Given the description of an element on the screen output the (x, y) to click on. 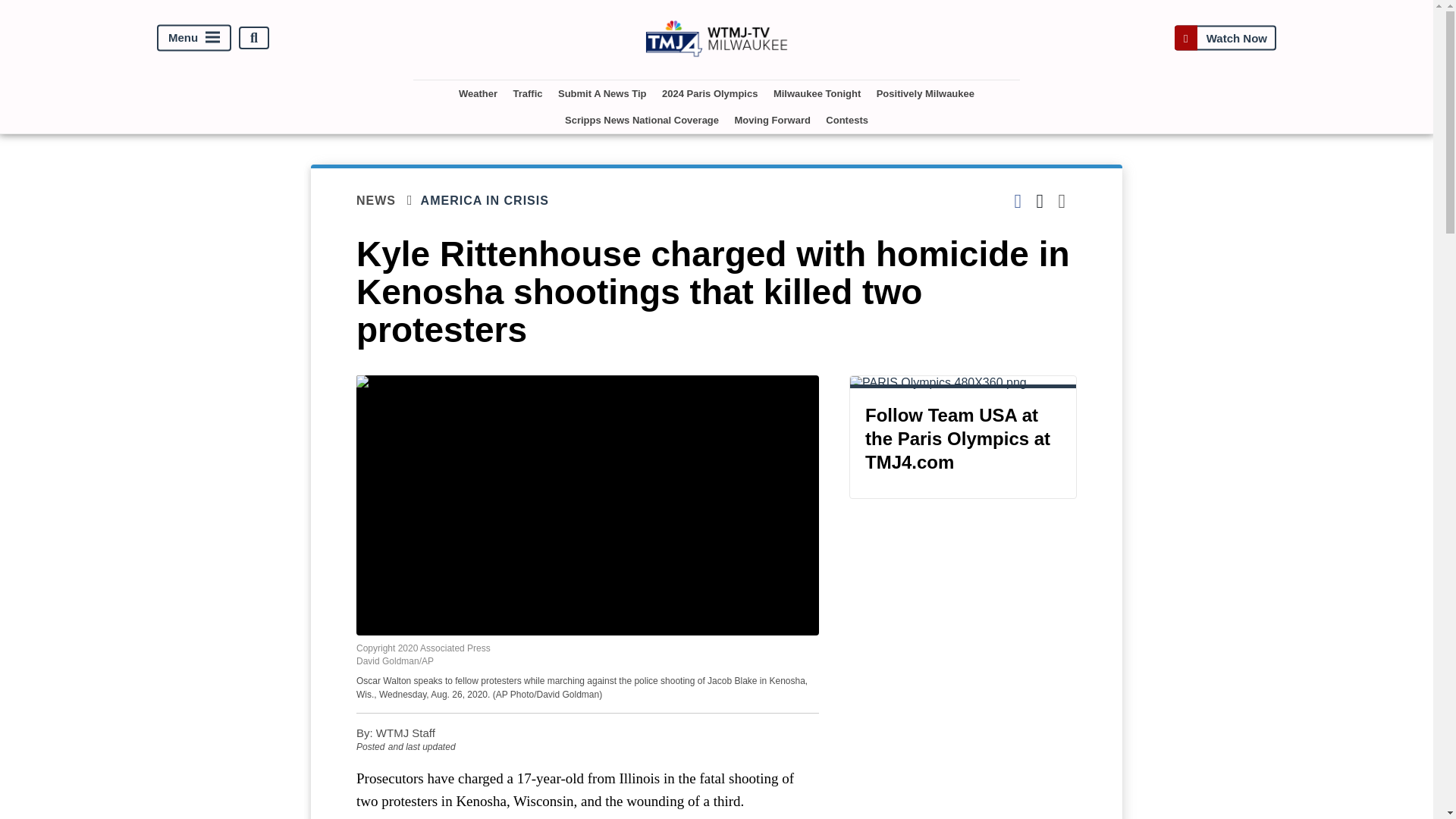
Watch Now (1224, 38)
Menu (194, 38)
